Given the description of an element on the screen output the (x, y) to click on. 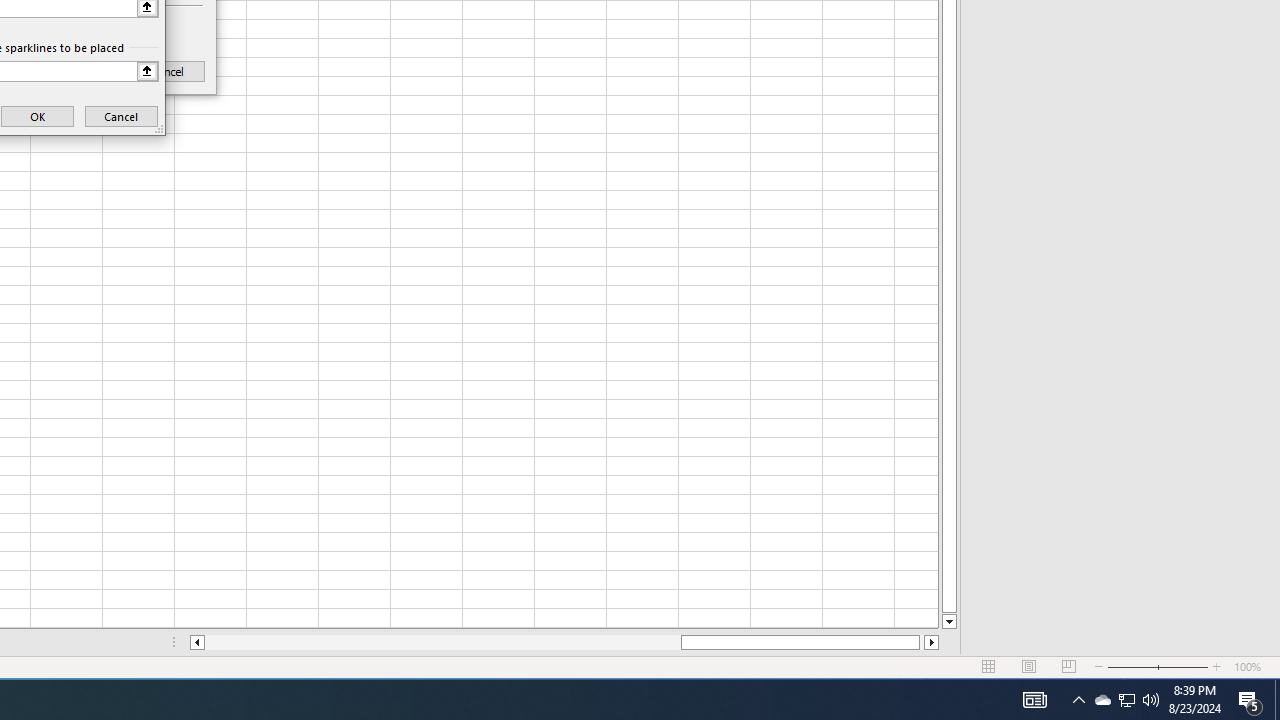
User Promoted Notification Area (1126, 699)
AutomationID: 4105 (1034, 699)
Notification Chevron (1078, 699)
Action Center, 5 new notifications (1250, 699)
